Given the description of an element on the screen output the (x, y) to click on. 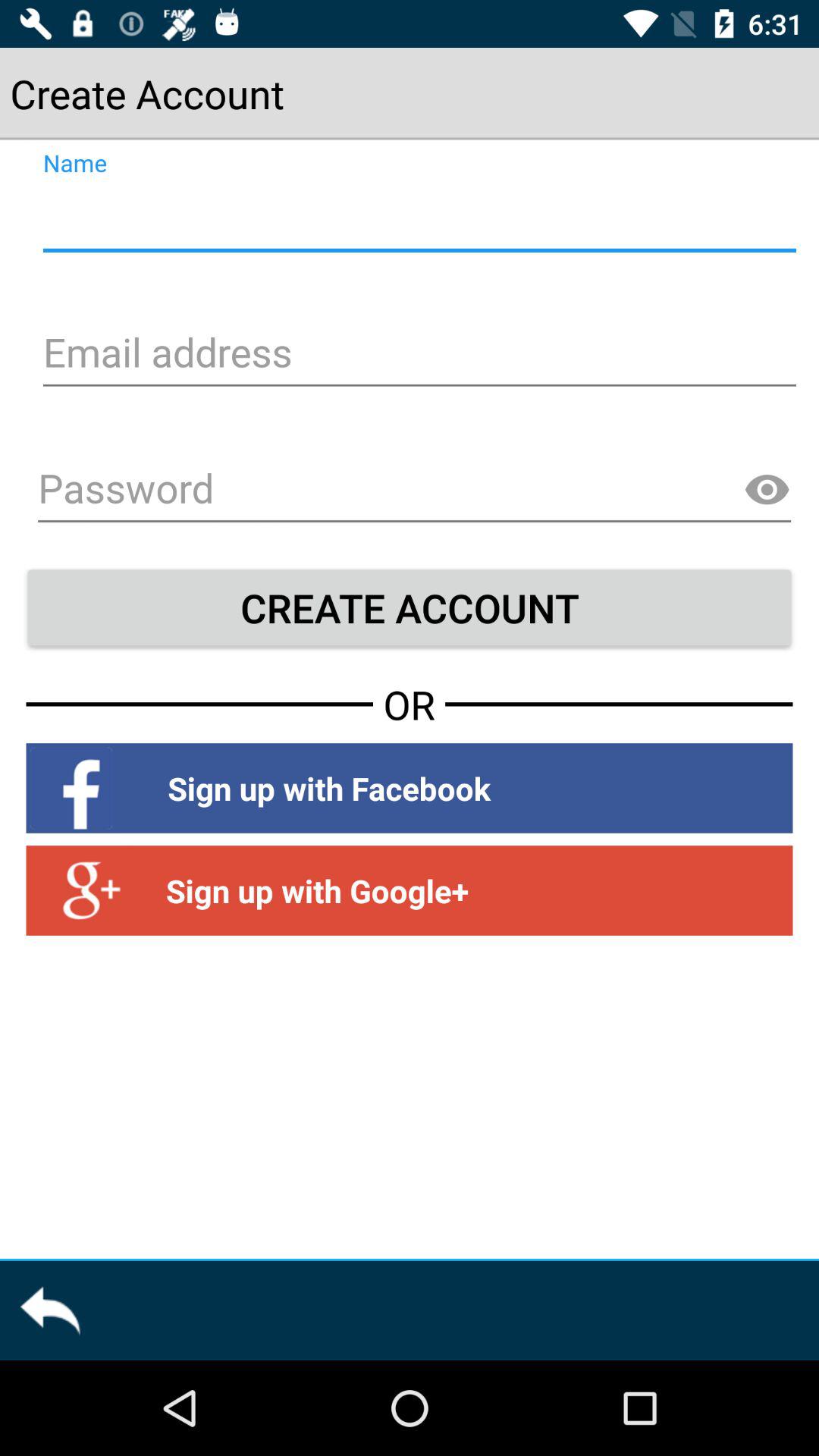
click the icon above create account item (767, 490)
